Given the description of an element on the screen output the (x, y) to click on. 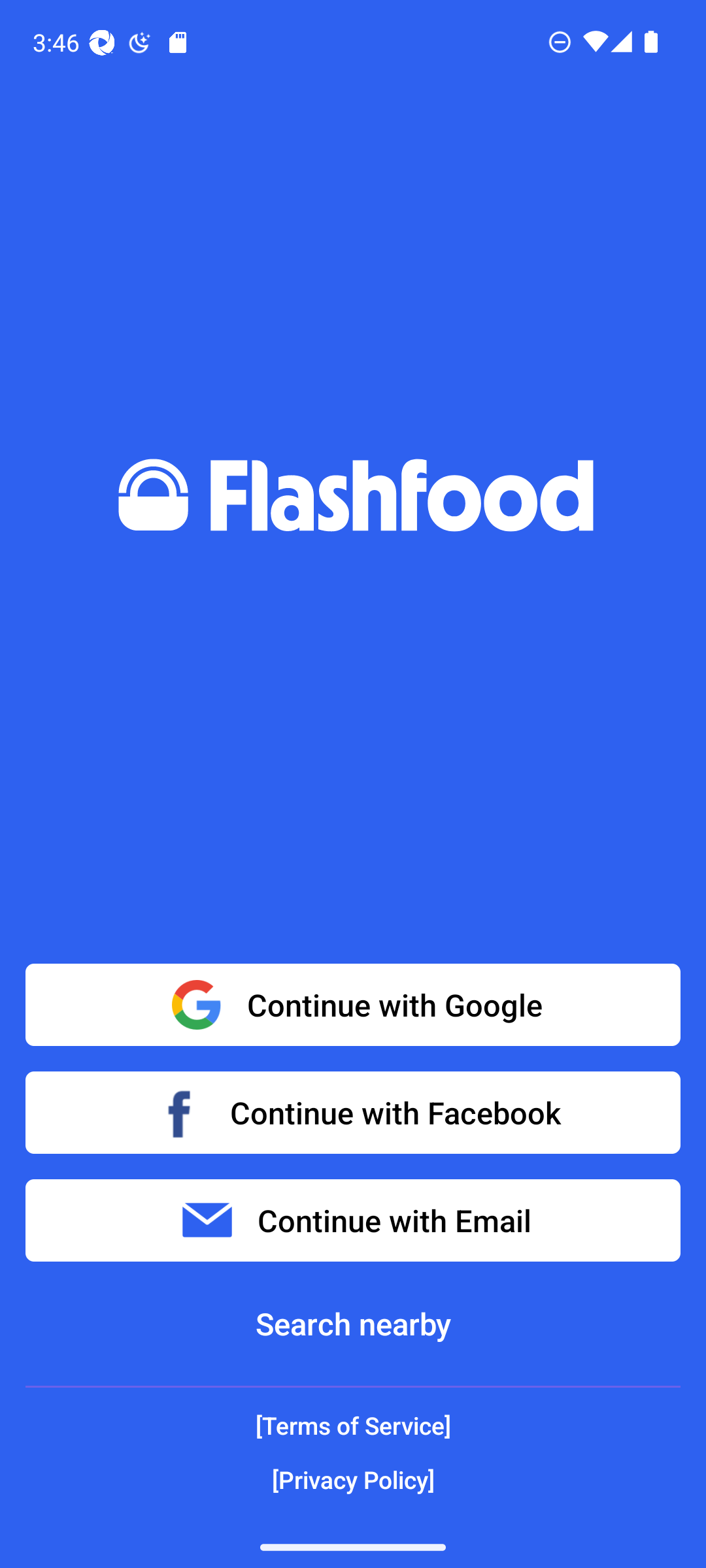
Continue with Google (352, 1004)
Continue with Facebook (352, 1112)
Continue with Email (352, 1220)
Search nearby (352, 1323)
[Terms of Service] (352, 1425)
[Privacy Policy] (352, 1478)
